Given the description of an element on the screen output the (x, y) to click on. 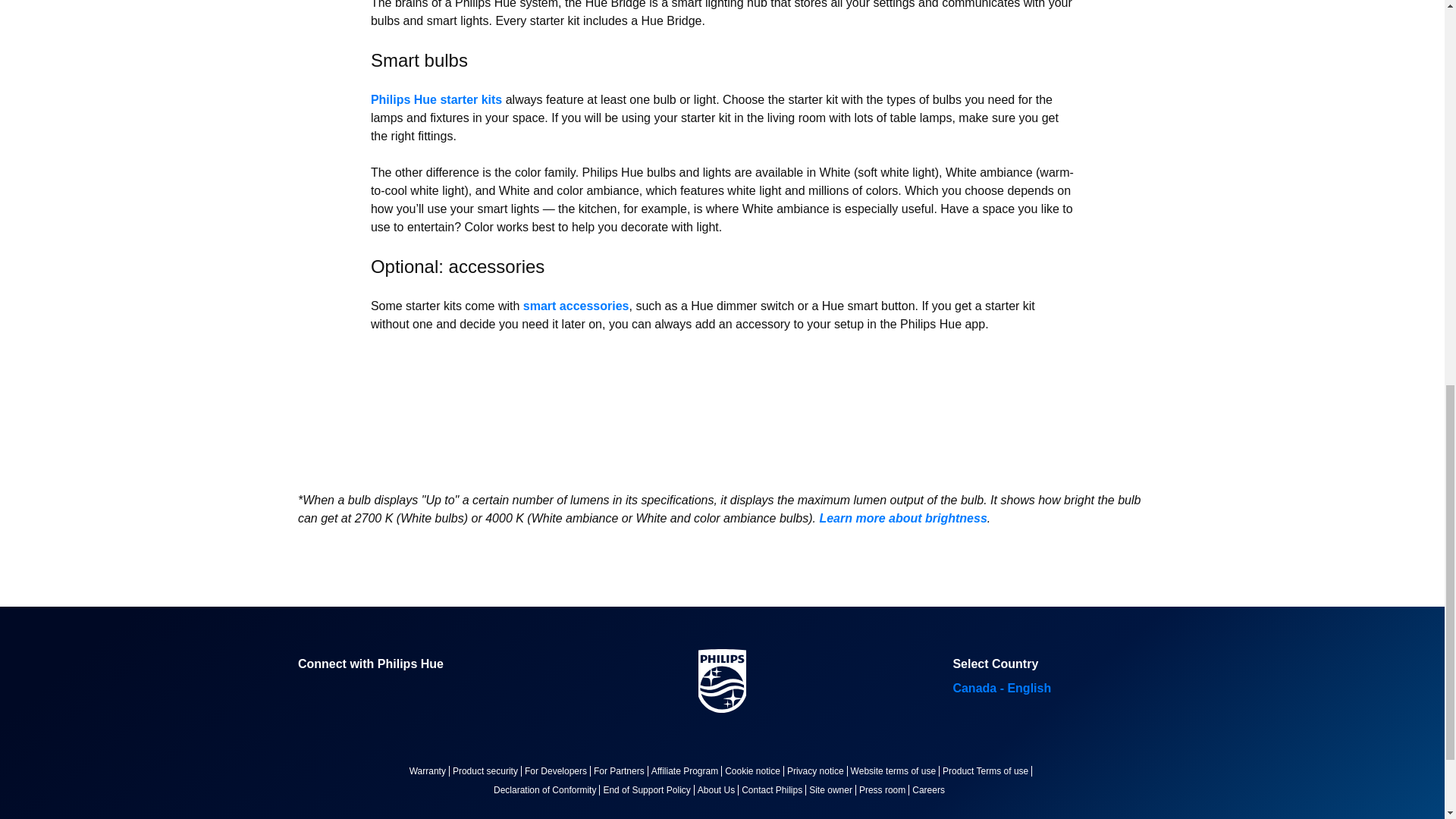
Cookie notice (756, 770)
For Developers (559, 770)
Facebook (309, 692)
Affiliate Program (687, 770)
Website terms of use (896, 770)
Twitter (346, 692)
Declaration of Conformity (547, 789)
Instagram (418, 692)
Product security (488, 770)
Product Terms of use (988, 770)
